Given the description of an element on the screen output the (x, y) to click on. 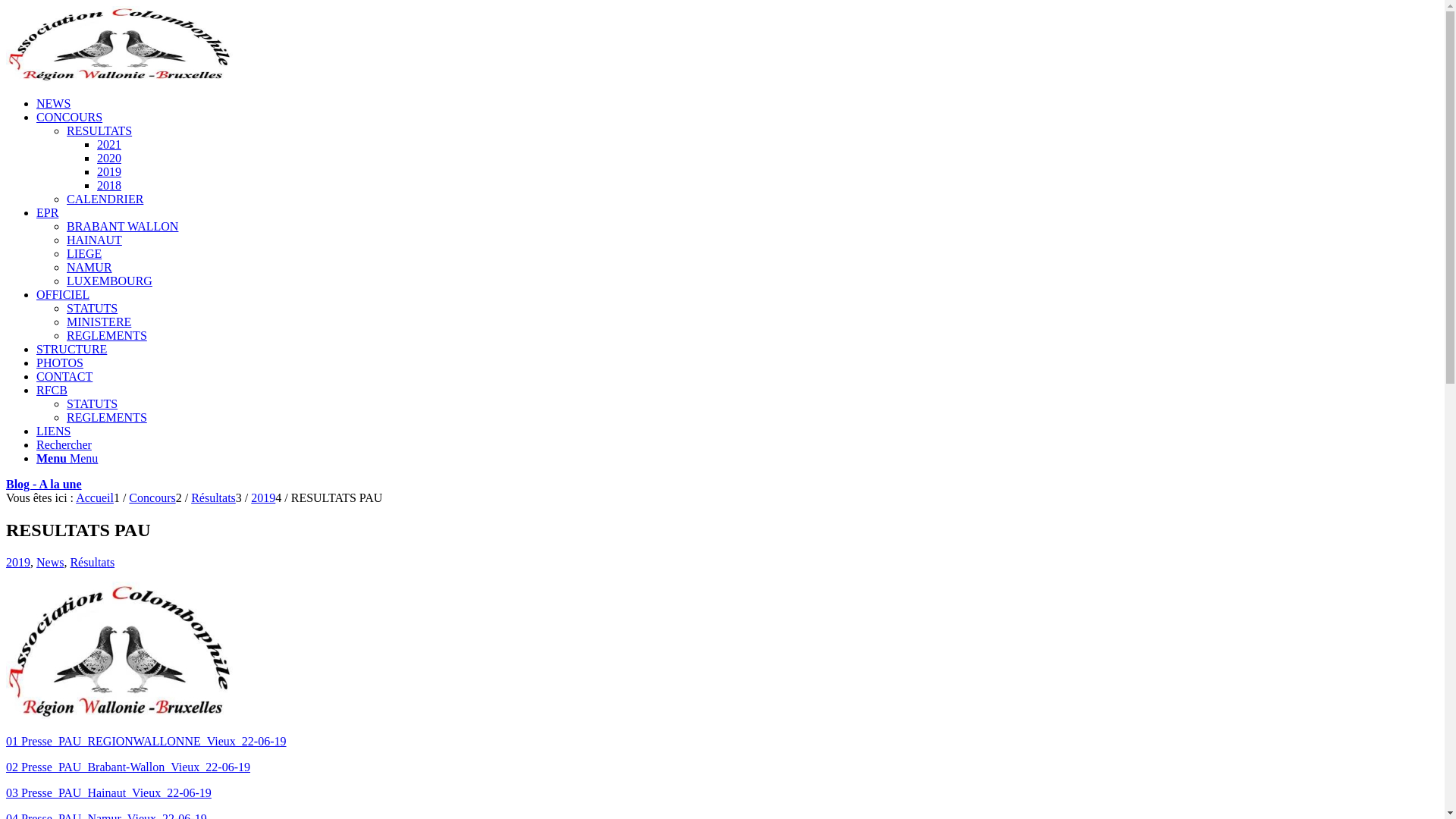
CONTACT Element type: text (64, 376)
03 Presse_PAU_Hainaut_Vieux_22-06-19 Element type: text (108, 792)
STATUTS Element type: text (91, 403)
REGLEMENTS Element type: text (106, 335)
CALENDRIER Element type: text (104, 198)
2018 Element type: text (109, 184)
News Element type: text (49, 561)
2019 Element type: text (18, 561)
Rechercher Element type: text (63, 444)
2020 Element type: text (109, 157)
Accueil Element type: text (94, 497)
REGLEMENTS Element type: text (106, 417)
NEWS Element type: text (53, 103)
Blog - A la une Element type: text (43, 483)
STATUTS Element type: text (91, 307)
OFFICIEL Element type: text (62, 294)
EPR Element type: text (47, 212)
RFCB Element type: text (51, 389)
LUXEMBOURG Element type: text (109, 280)
2019 Element type: text (263, 497)
01 Presse_PAU_REGIONWALLONNE_Vieux_22-06-19 Element type: text (146, 740)
2021 Element type: text (109, 144)
MINISTERE Element type: text (98, 321)
Concours Element type: text (151, 497)
LIENS Element type: text (53, 430)
02 Presse_PAU_Brabant-Wallon_Vieux_22-06-19 Element type: text (128, 766)
RESULTATS Element type: text (98, 130)
2019 Element type: text (109, 171)
HAINAUT Element type: text (94, 239)
STRUCTURE Element type: text (71, 348)
BRABANT WALLON Element type: text (122, 225)
LIEGE Element type: text (83, 253)
NAMUR Element type: text (89, 266)
CONCOURS Element type: text (69, 116)
Menu Menu Element type: text (66, 457)
PHOTOS Element type: text (59, 362)
